Given the description of an element on the screen output the (x, y) to click on. 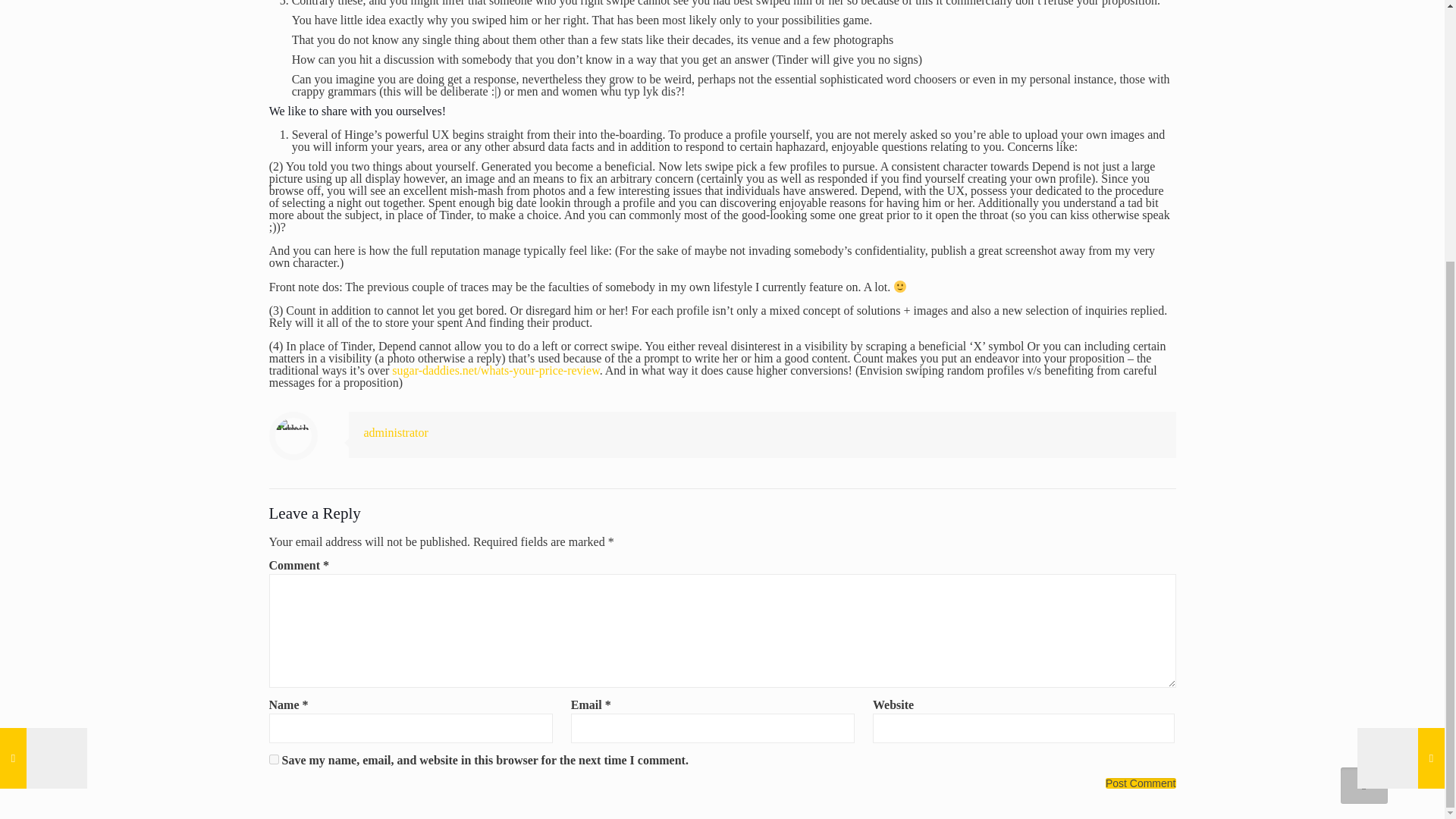
Post Comment (1140, 783)
yes (272, 759)
administrator (396, 431)
Post Comment (1140, 783)
